Given the description of an element on the screen output the (x, y) to click on. 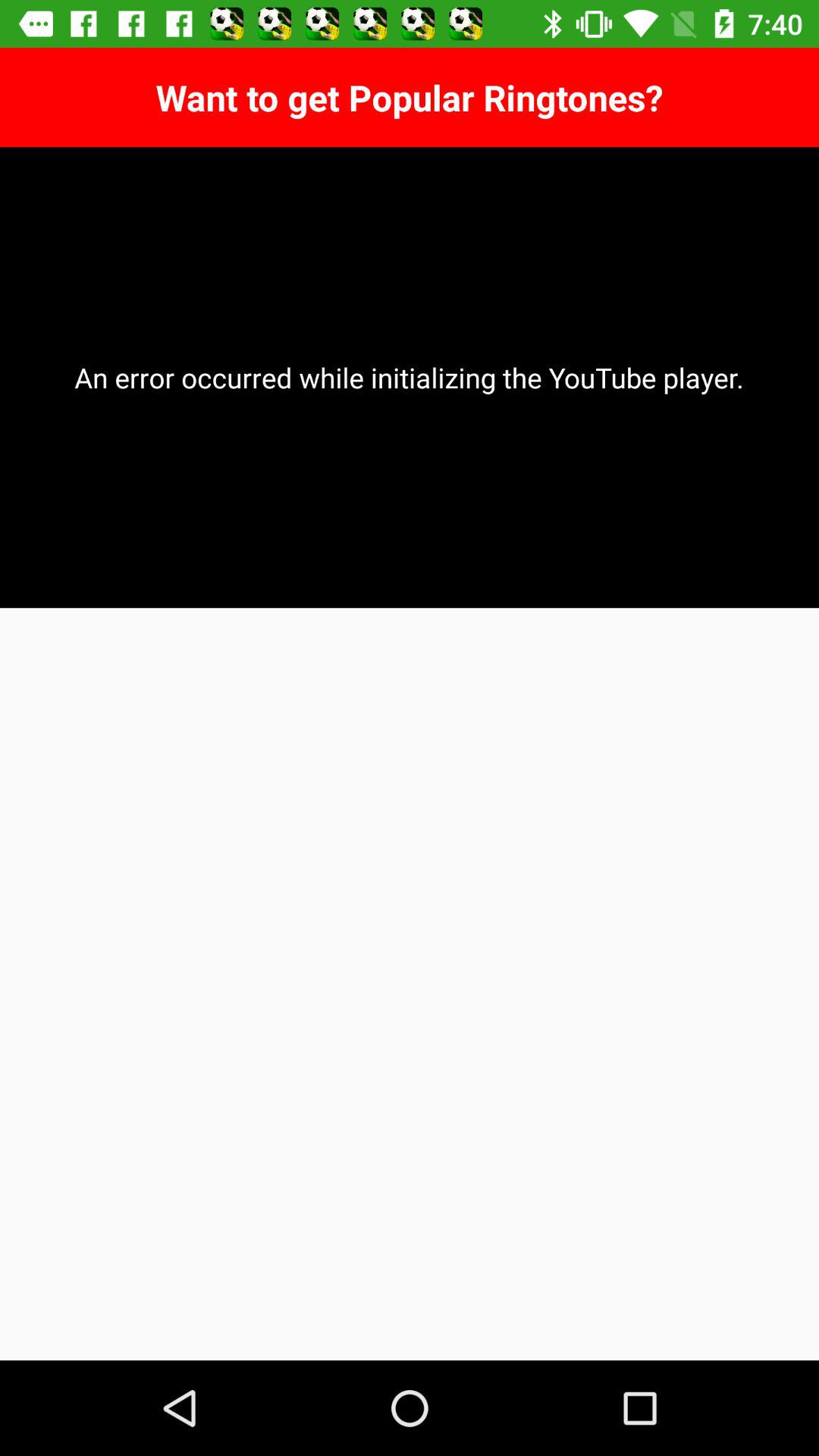
turn off want to get app (409, 97)
